Given the description of an element on the screen output the (x, y) to click on. 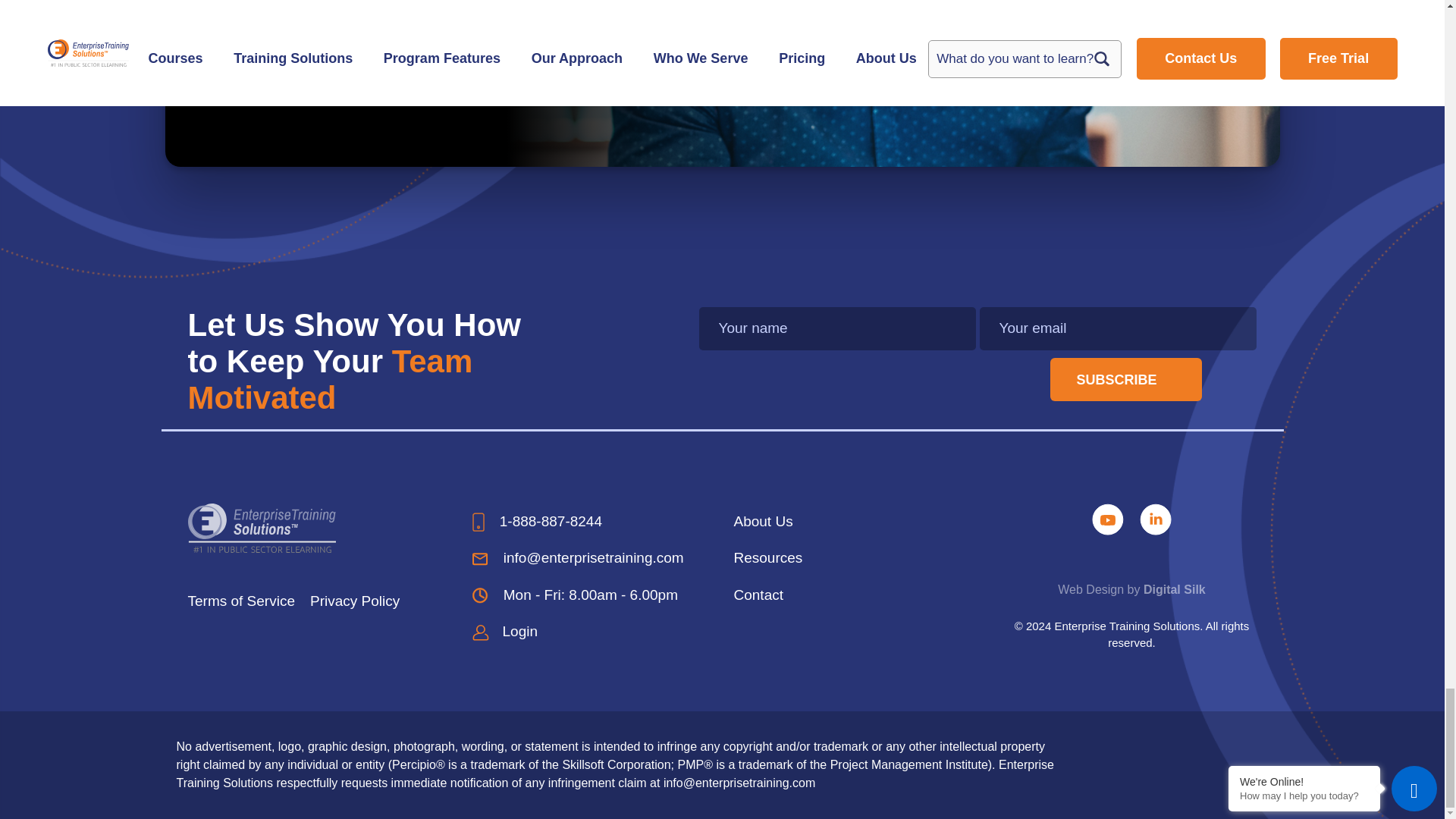
SUBSCRIBE (1125, 379)
Enterprise Training and Government Training on Youtube (1110, 518)
Enterprise Training and Government Training on LinkedIn (1155, 518)
